Given the description of an element on the screen output the (x, y) to click on. 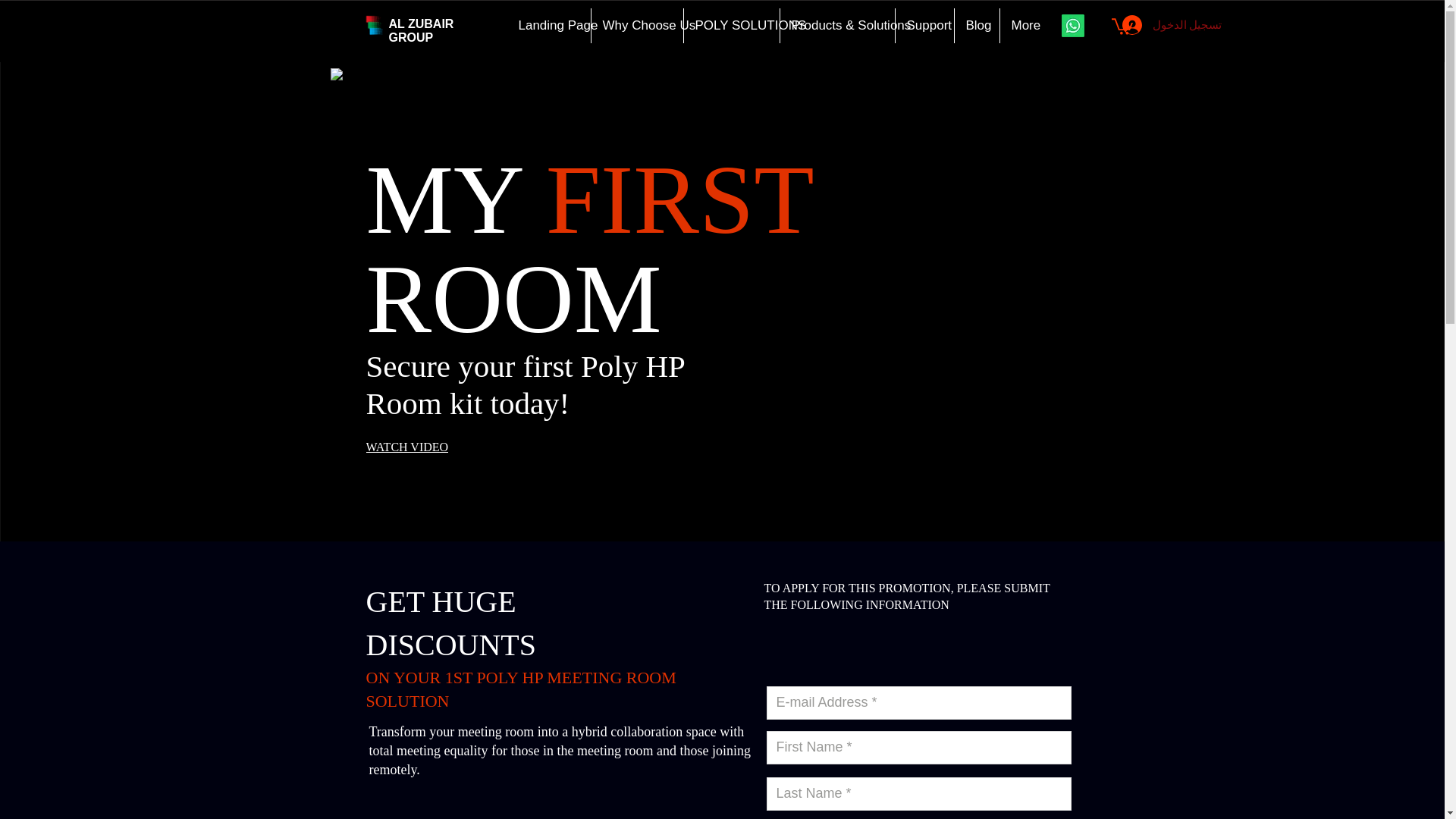
Why Choose Us (635, 25)
POLY SOLUTIONS (730, 25)
Blog (975, 25)
Landing Page (547, 25)
WATCH VIDEO (414, 447)
AL ZUBAIR GROUP (420, 30)
Support (924, 25)
